Given the description of an element on the screen output the (x, y) to click on. 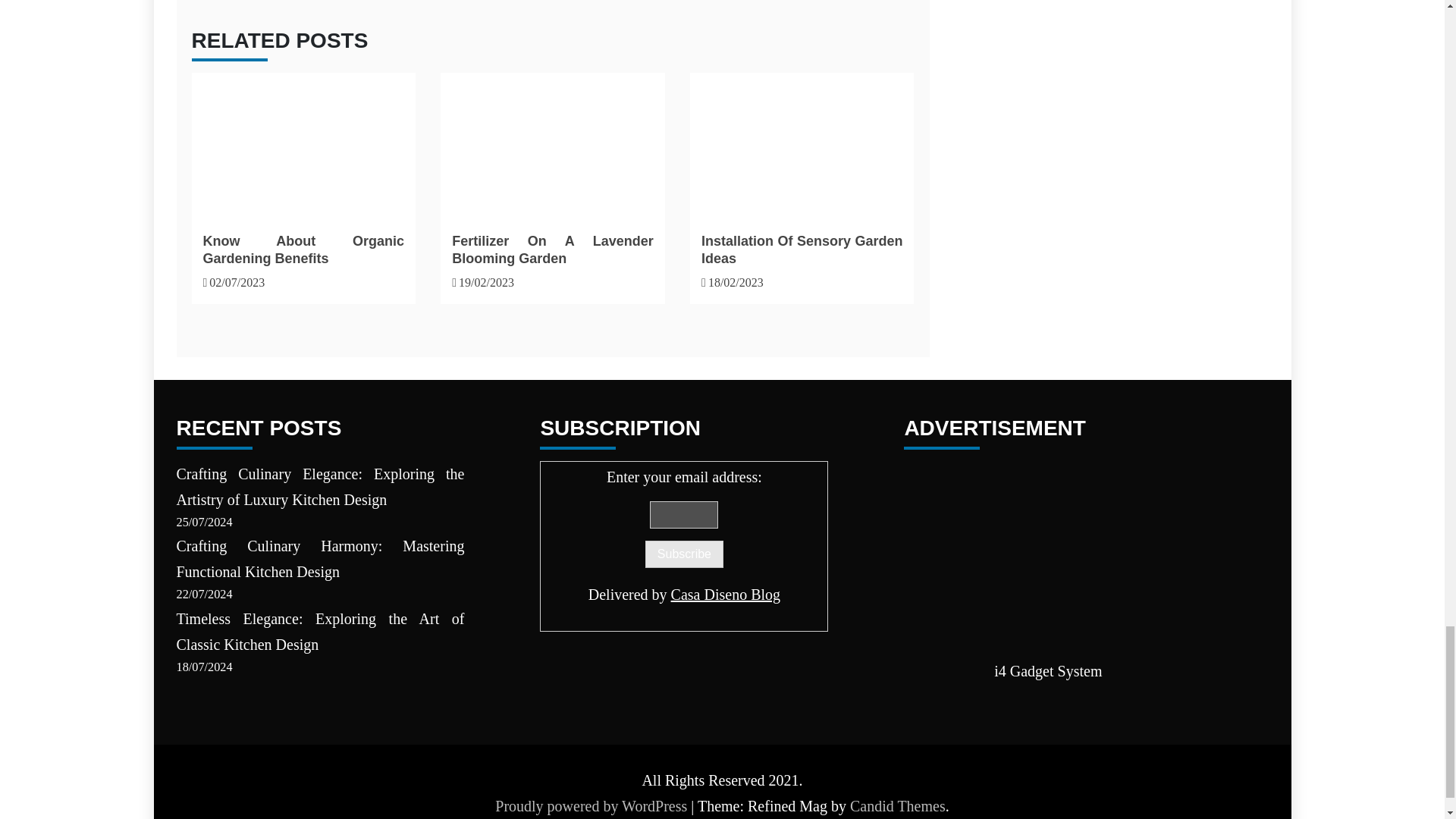
Game Crew (1047, 555)
Subscribe (684, 554)
Fertilizer On A Lavender Blooming Garden (552, 142)
Fertilizer On A Lavender Blooming Garden (551, 249)
Know About Organic Gardening Benefits (302, 142)
Know About Organic Gardening Benefits (303, 249)
